Given the description of an element on the screen output the (x, y) to click on. 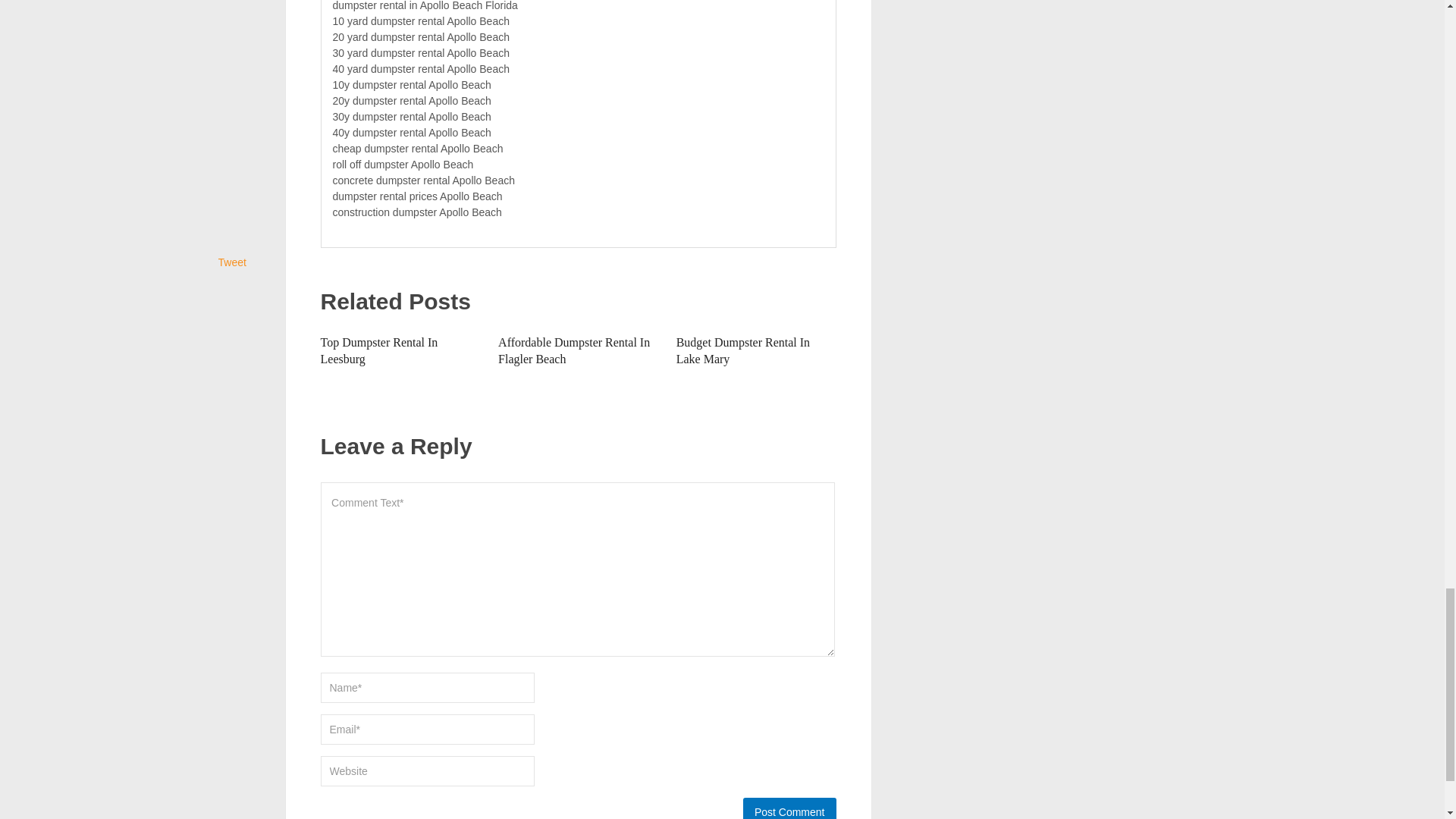
Affordable Dumpster Rental In Flagler Beach (573, 350)
Post Comment (788, 808)
Budget Dumpster Rental In Lake Mary (743, 350)
Budget Dumpster Rental In Lake Mary (743, 350)
Post Comment (788, 808)
Top Dumpster Rental In Leesburg (379, 350)
Top Dumpster Rental In Leesburg (379, 350)
Affordable Dumpster Rental In Flagler Beach (573, 350)
